Given the description of an element on the screen output the (x, y) to click on. 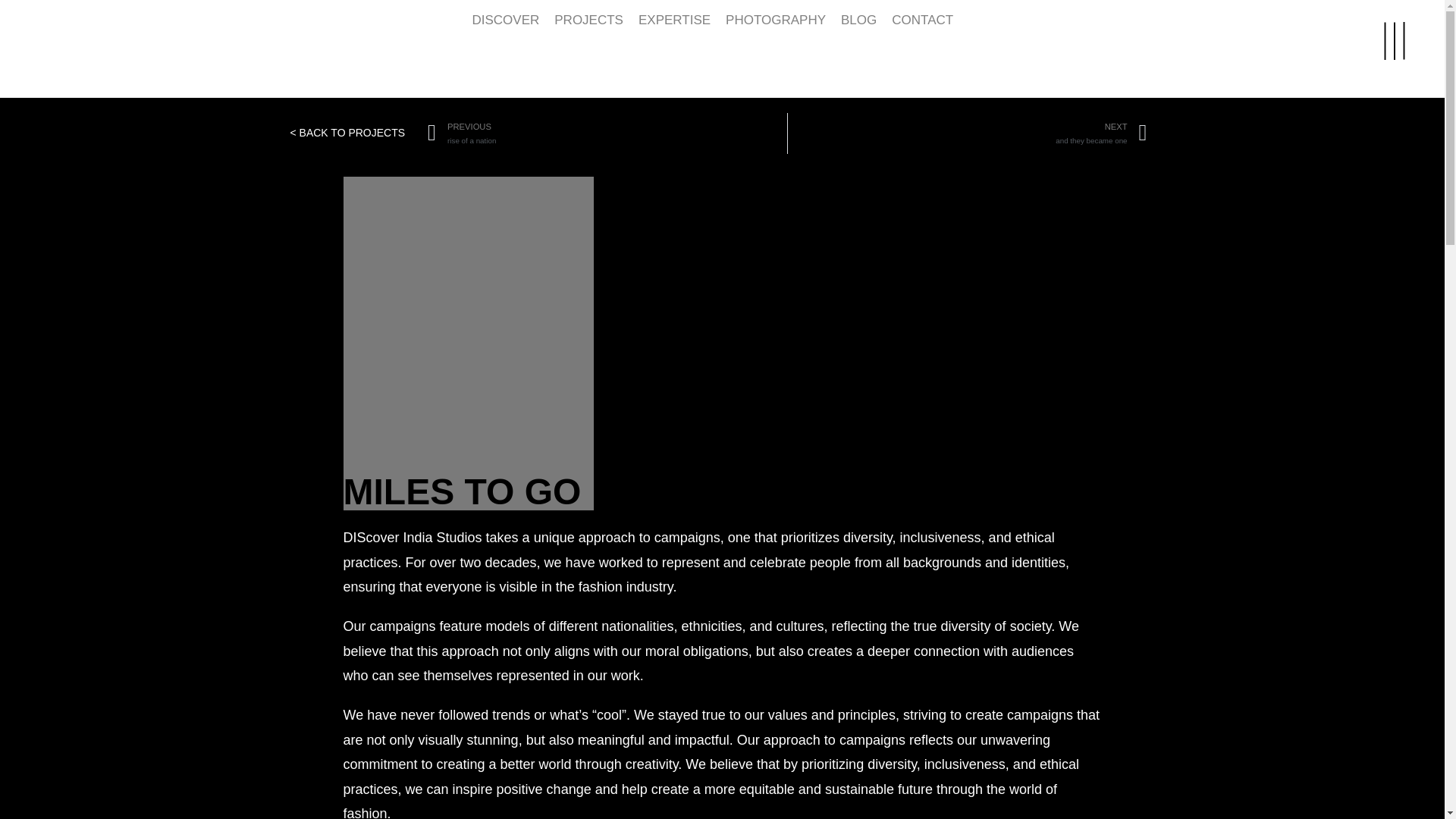
DIScover (607, 133)
CONTACT (44, 44)
BLOG (967, 133)
EXPERTISE (921, 21)
PROJECTS (857, 21)
DISCOVER (673, 21)
PHOTOGRAPHY (588, 21)
